Given the description of an element on the screen output the (x, y) to click on. 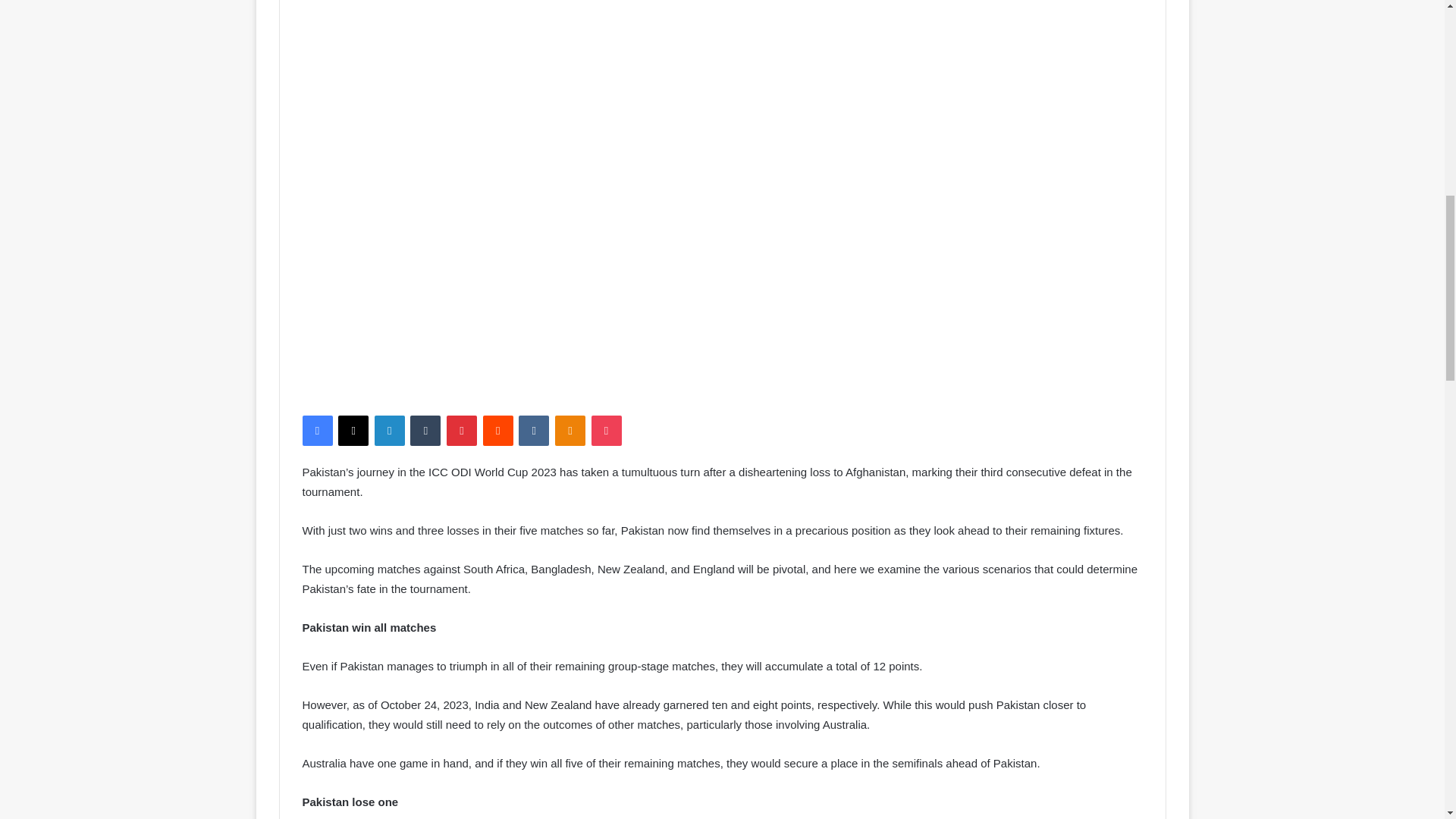
Facebook (316, 430)
Odnoklassniki (569, 430)
Tumblr (425, 430)
VKontakte (533, 430)
Facebook (316, 430)
X (352, 430)
Pocket (606, 430)
LinkedIn (389, 430)
Tumblr (425, 430)
Pinterest (461, 430)
